Given the description of an element on the screen output the (x, y) to click on. 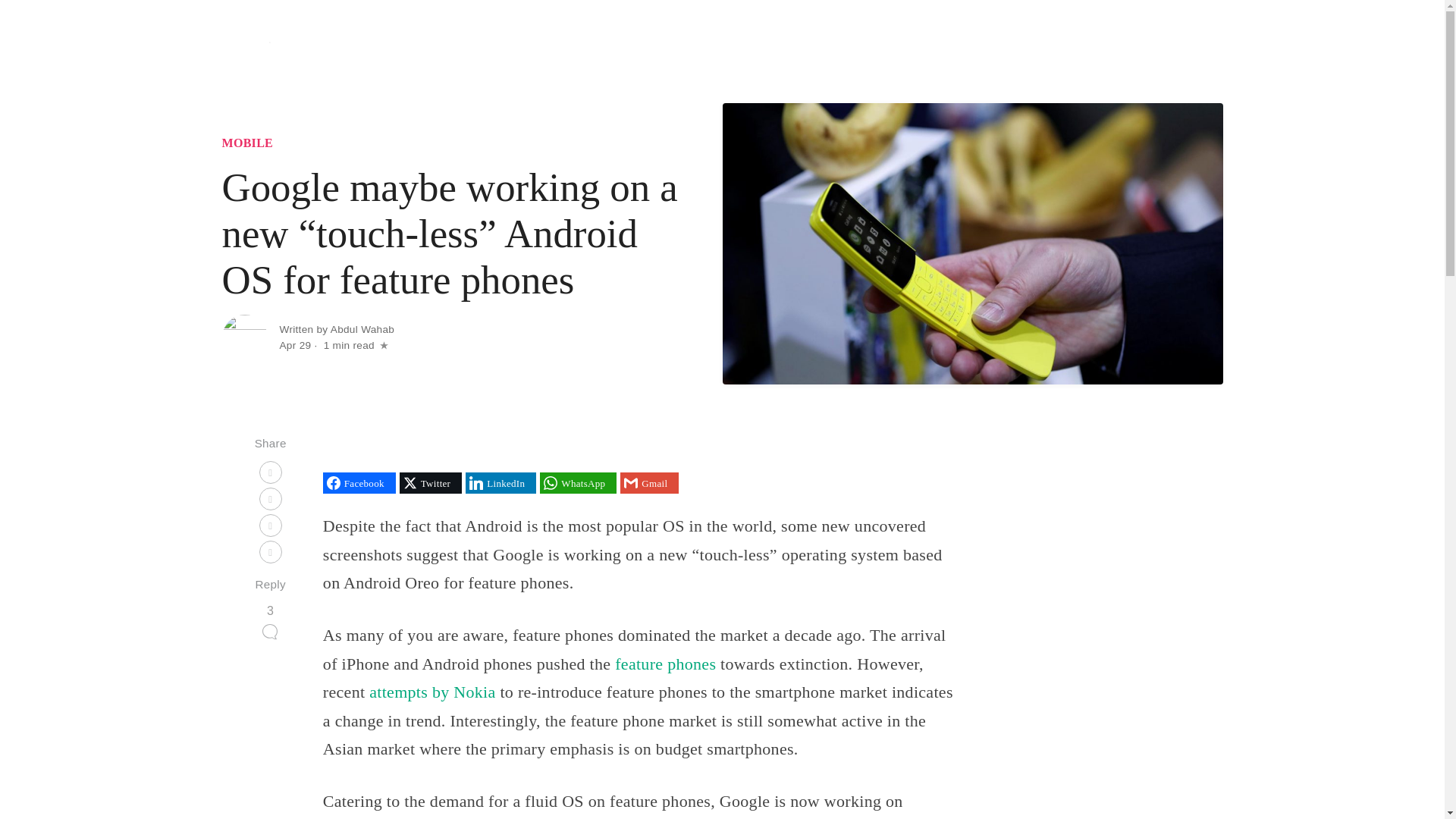
Writers (1192, 49)
Share on WhatsApp (577, 482)
Share on Twitter (429, 482)
Share on Gmail (649, 482)
Technology (849, 49)
Facebook (359, 482)
Mobile (972, 49)
Share on Facebook (359, 482)
Written by Abdul Wahab (336, 328)
MOBILE (247, 142)
